Given the description of an element on the screen output the (x, y) to click on. 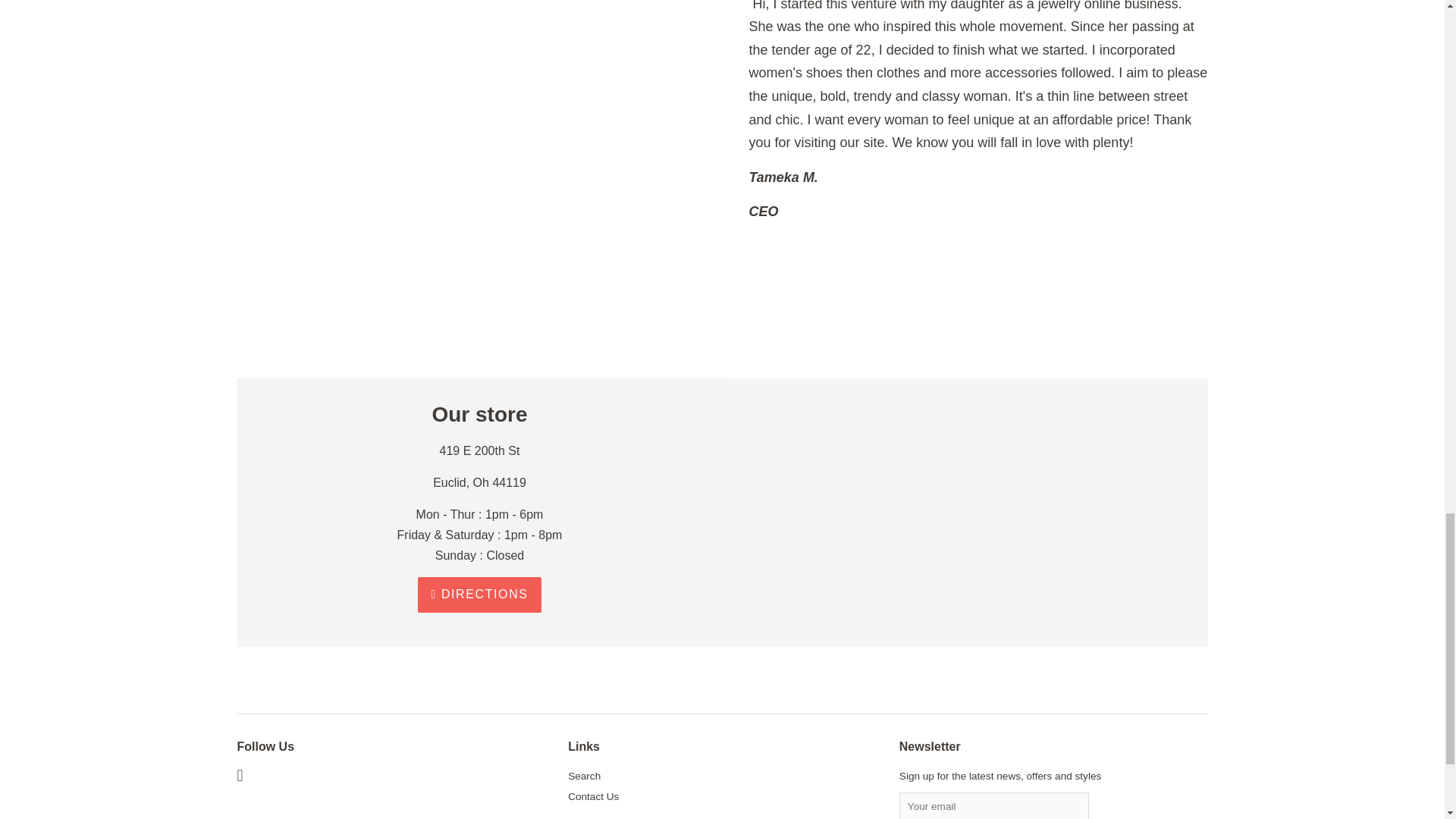
Search (583, 776)
Contact Us (592, 796)
DIRECTIONS (478, 594)
